Given the description of an element on the screen output the (x, y) to click on. 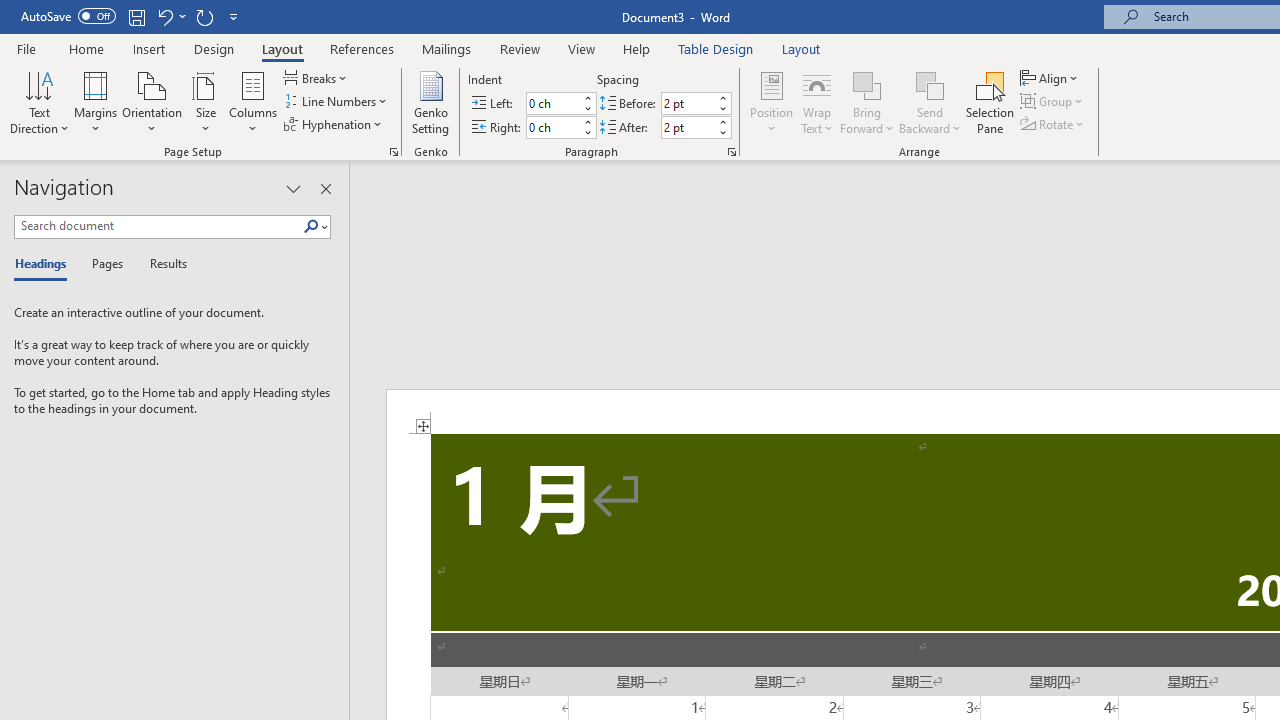
Indent Right (552, 127)
Page Setup... (393, 151)
Send Backward (930, 84)
Wrap Text (817, 102)
Breaks (317, 78)
